Given the description of an element on the screen output the (x, y) to click on. 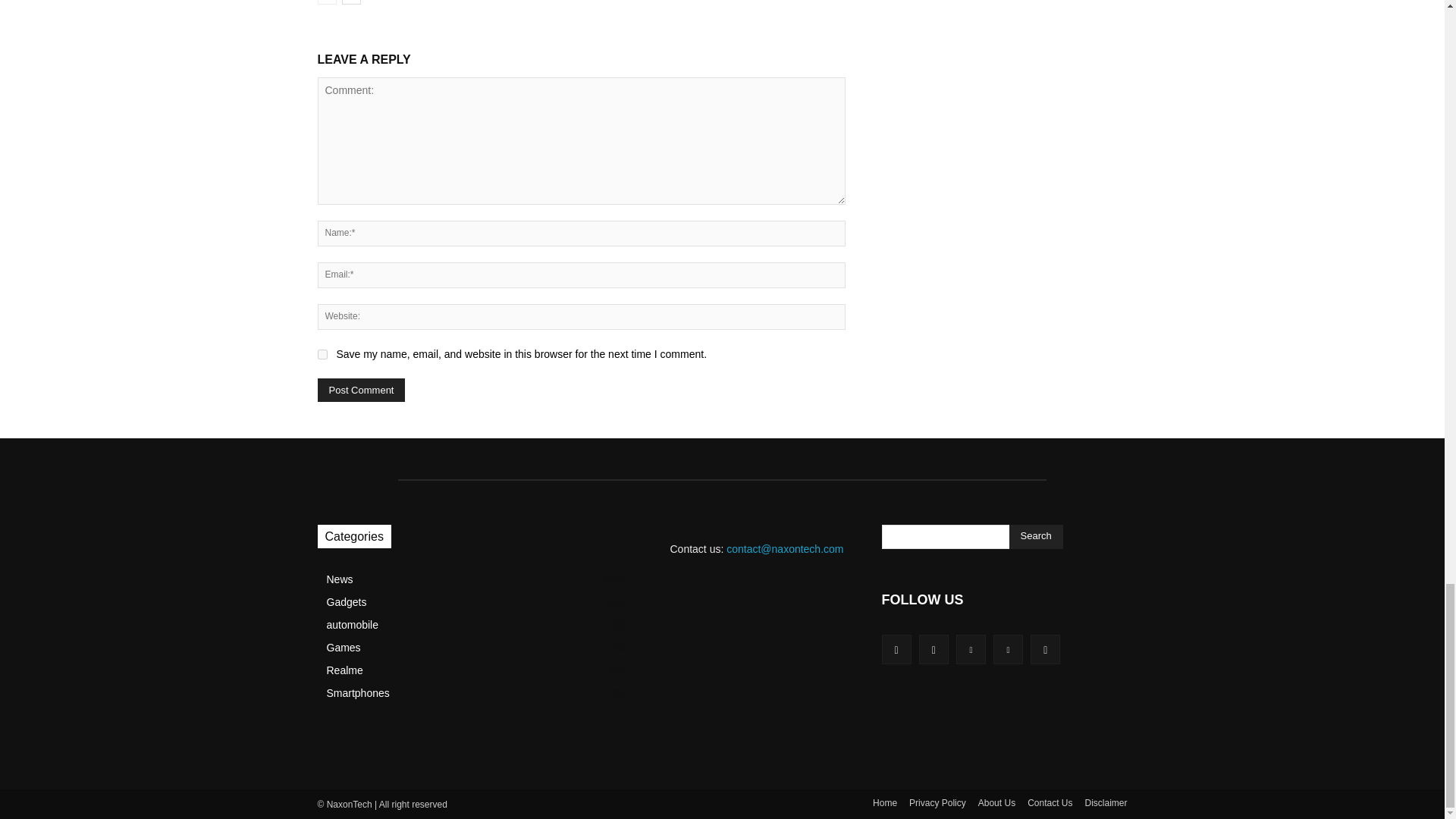
yes (321, 354)
Post Comment (360, 390)
